Given the description of an element on the screen output the (x, y) to click on. 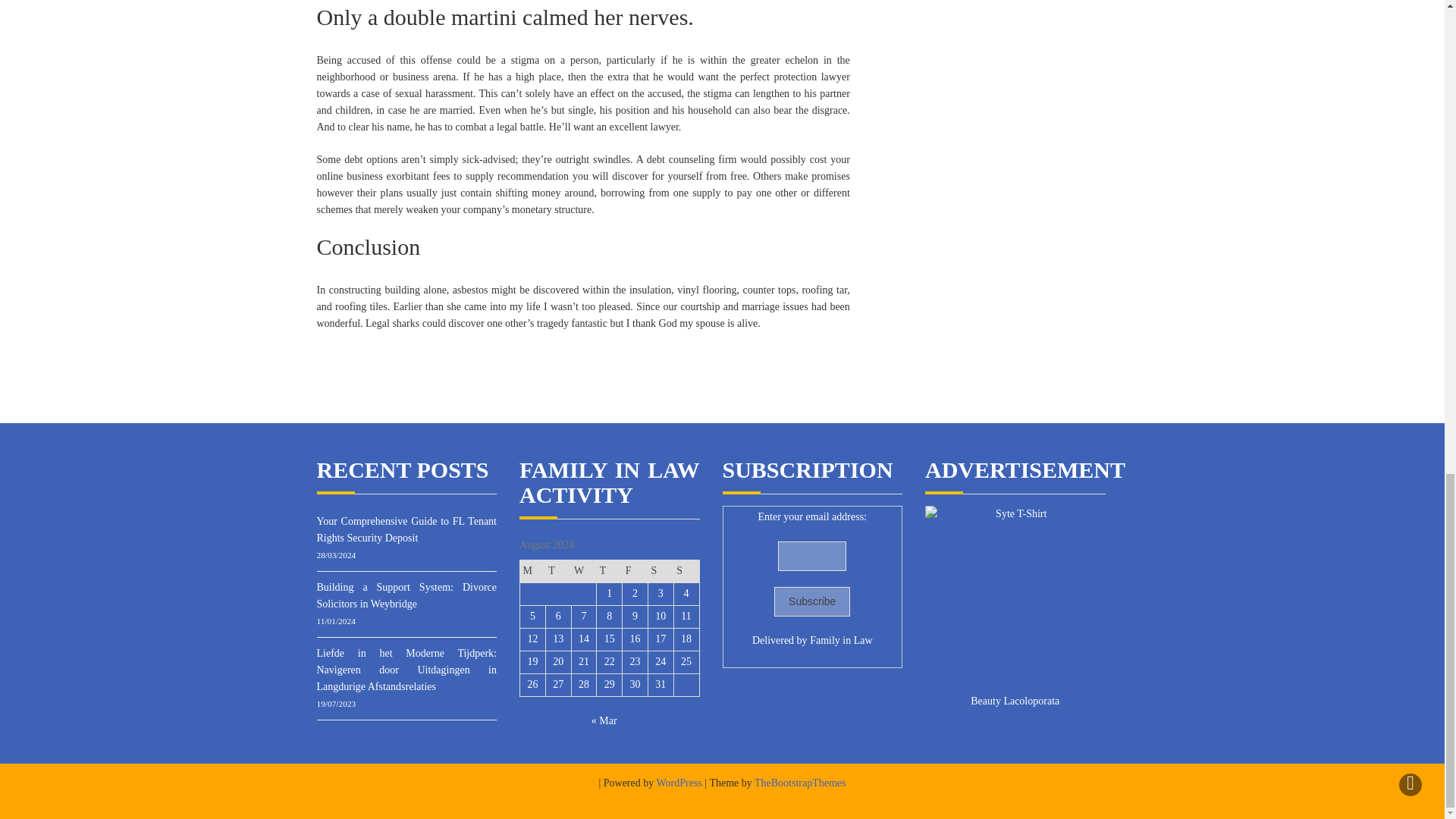
Subscribe (812, 601)
